Given the description of an element on the screen output the (x, y) to click on. 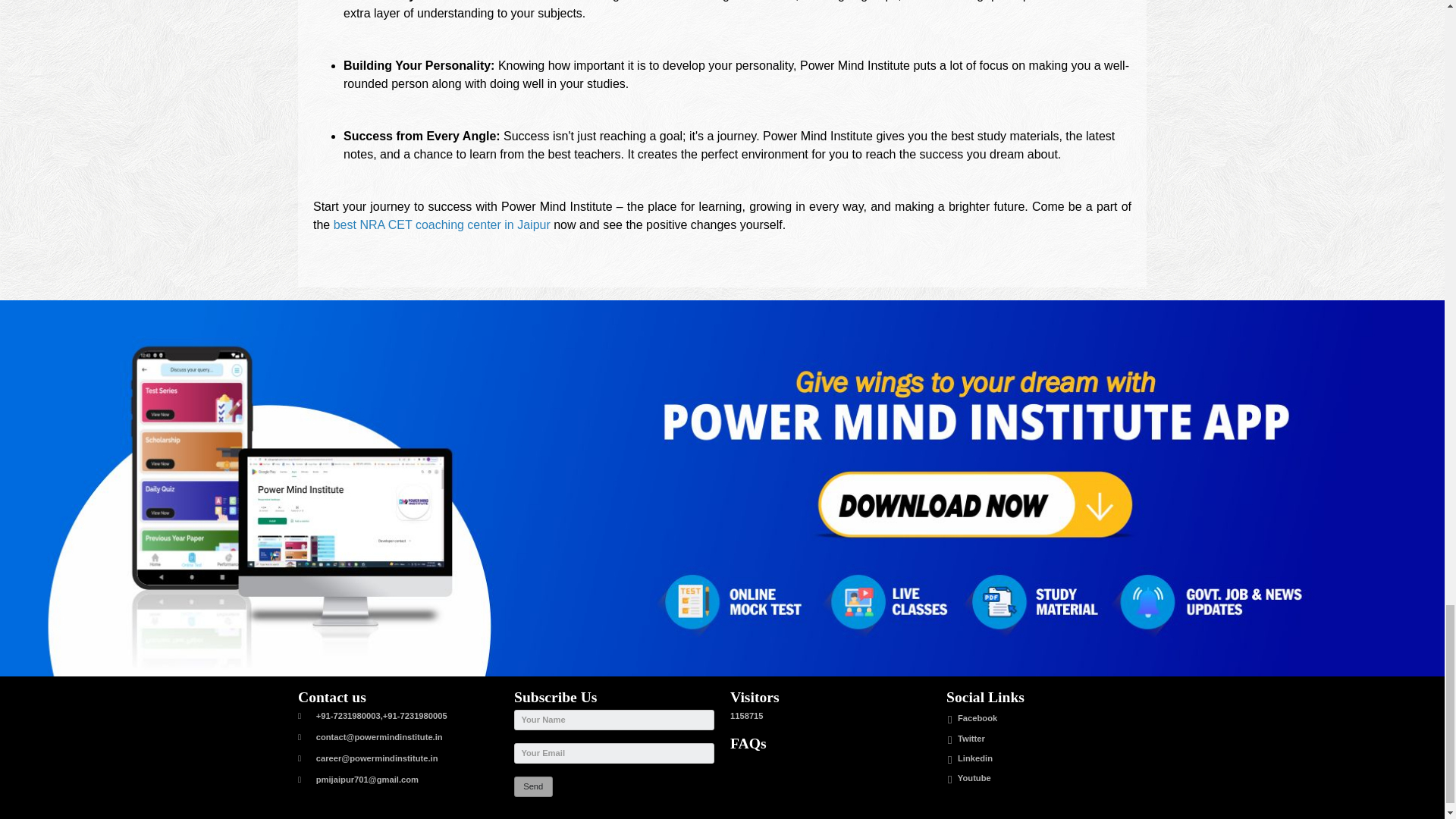
Send (533, 786)
